Given the description of an element on the screen output the (x, y) to click on. 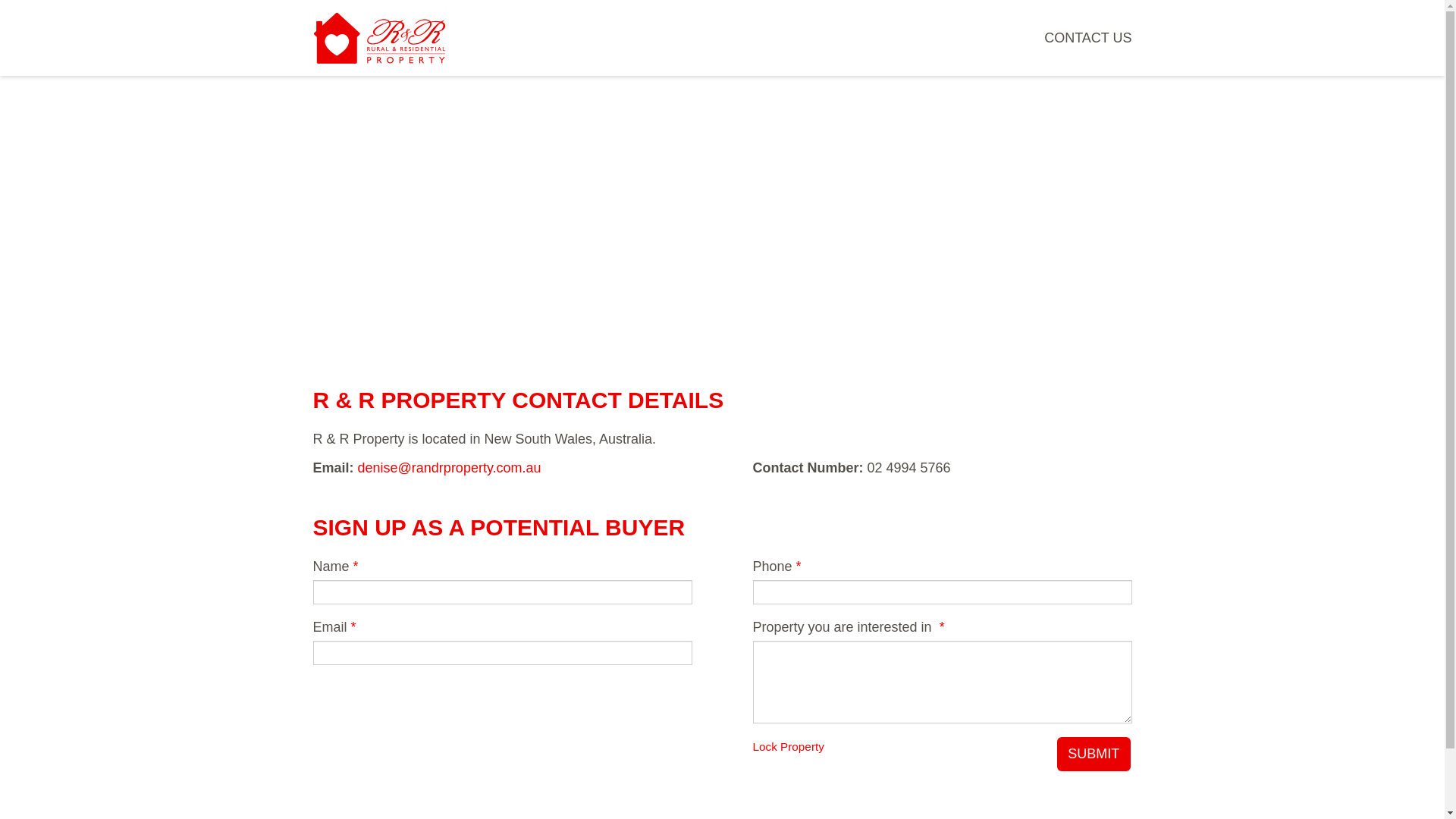
Submit Element type: text (1093, 754)
denise@randrproperty.com.au Element type: text (449, 467)
Lock Property Element type: text (787, 746)
R & R Property on the Market Buy platform Element type: hover (378, 37)
CONTACT US Element type: text (1087, 38)
